Given the description of an element on the screen output the (x, y) to click on. 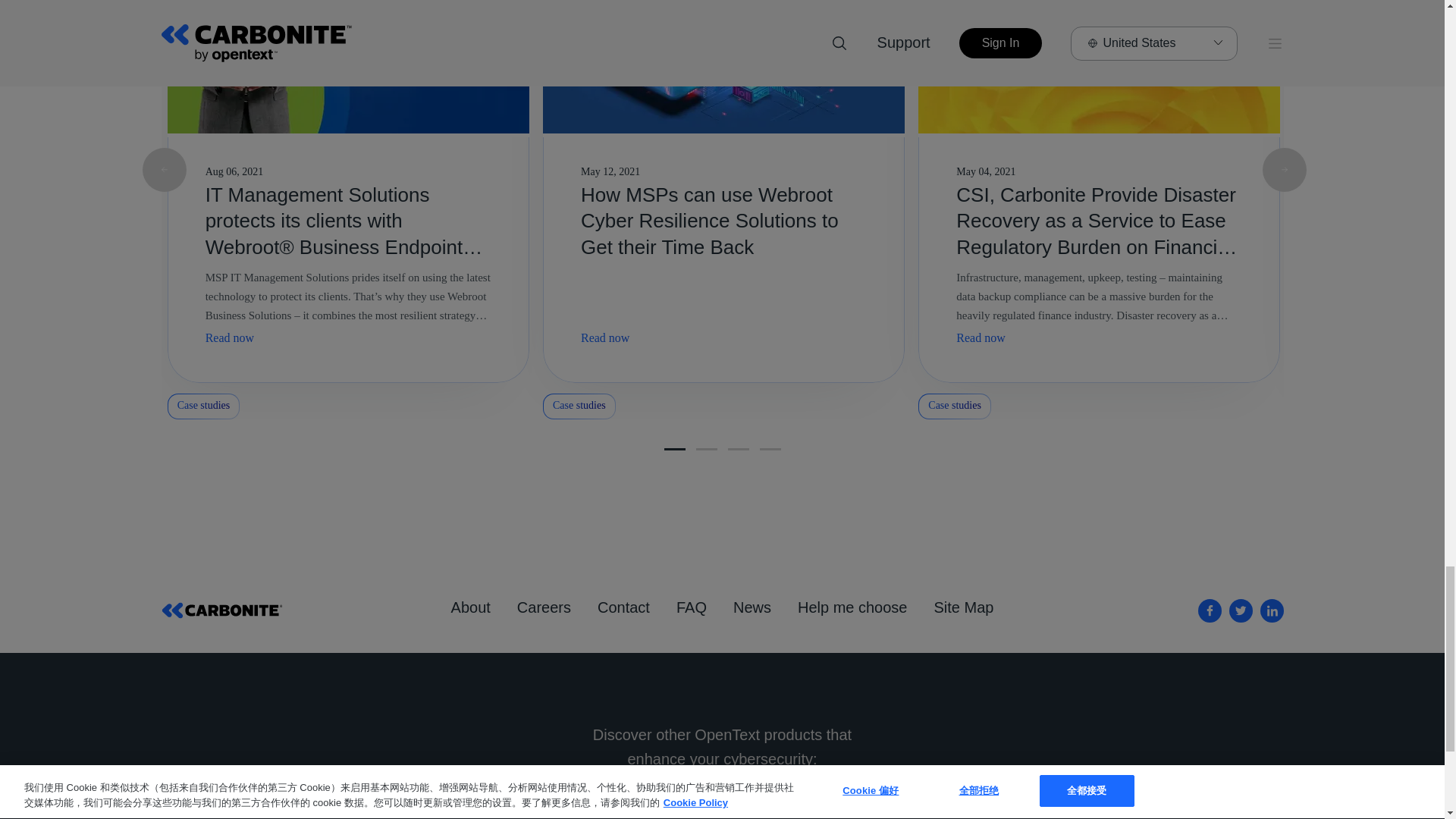
Linkedin (1272, 610)
Twitter (1240, 610)
Facebook (1209, 610)
